Given the description of an element on the screen output the (x, y) to click on. 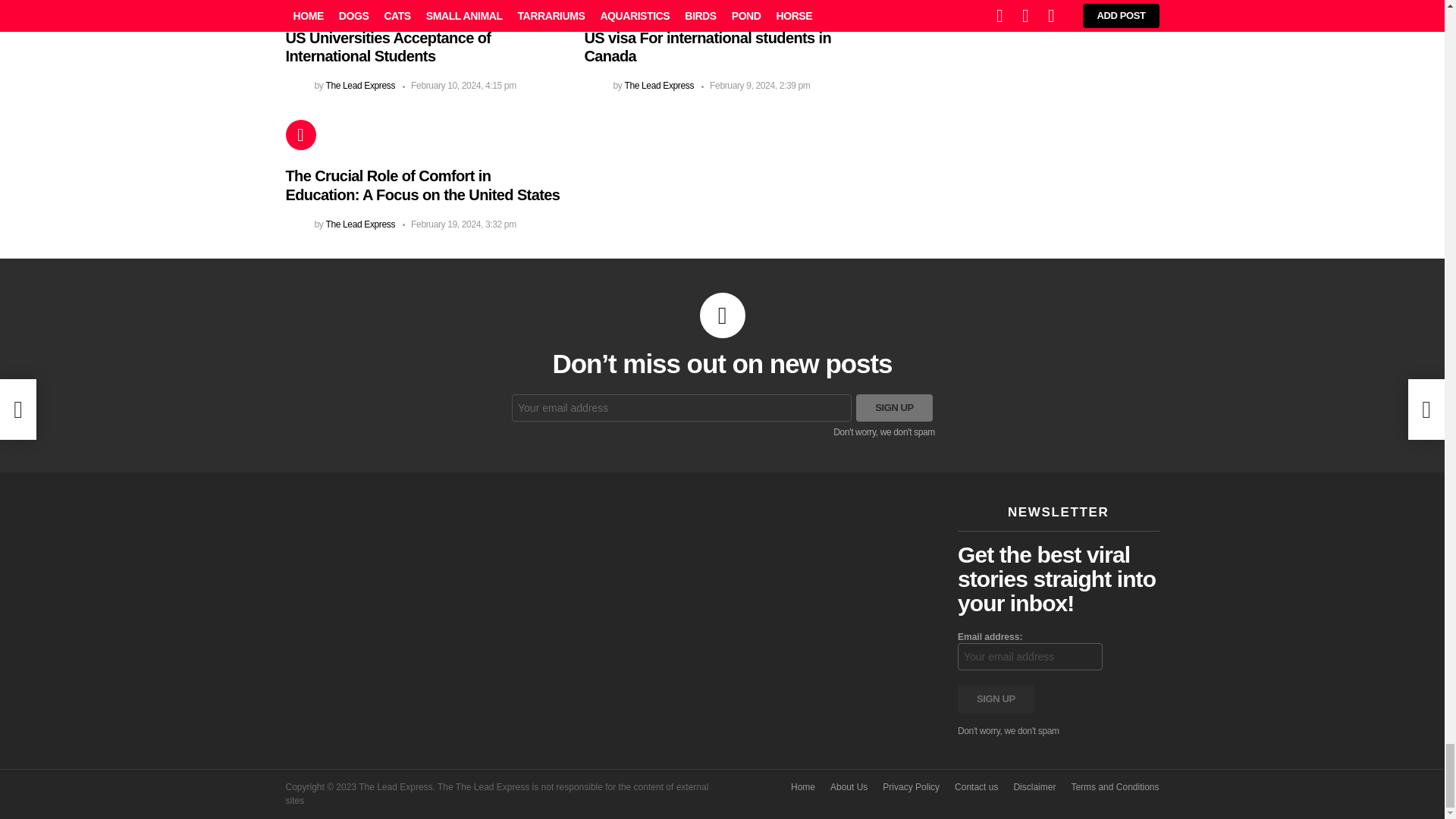
Sign up (894, 407)
Sign up (995, 698)
